Given the description of an element on the screen output the (x, y) to click on. 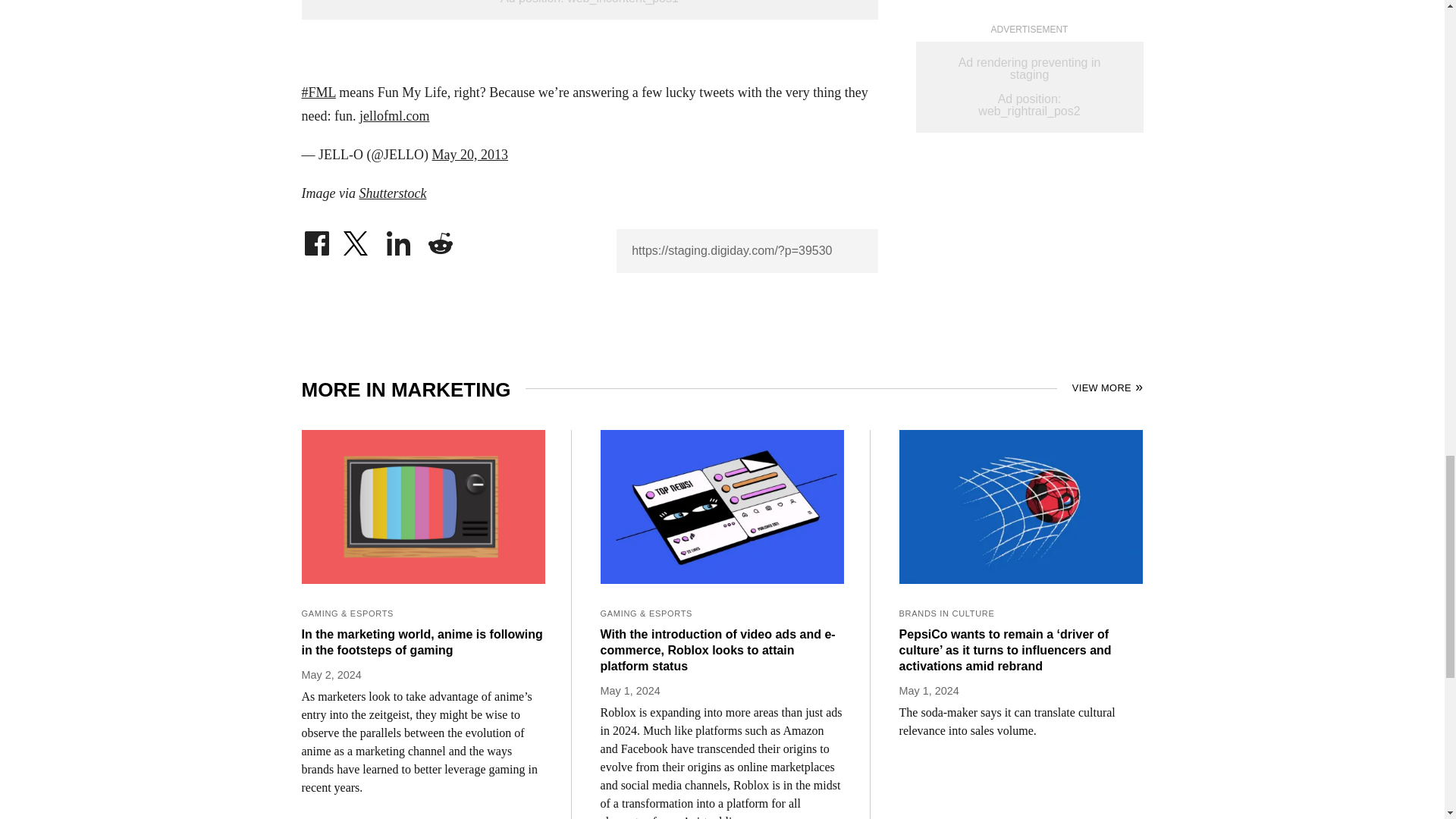
Share on Reddit (440, 239)
Share on Twitter (357, 239)
Share on Facebook (316, 239)
Share on LinkedIn (398, 239)
